Given the description of an element on the screen output the (x, y) to click on. 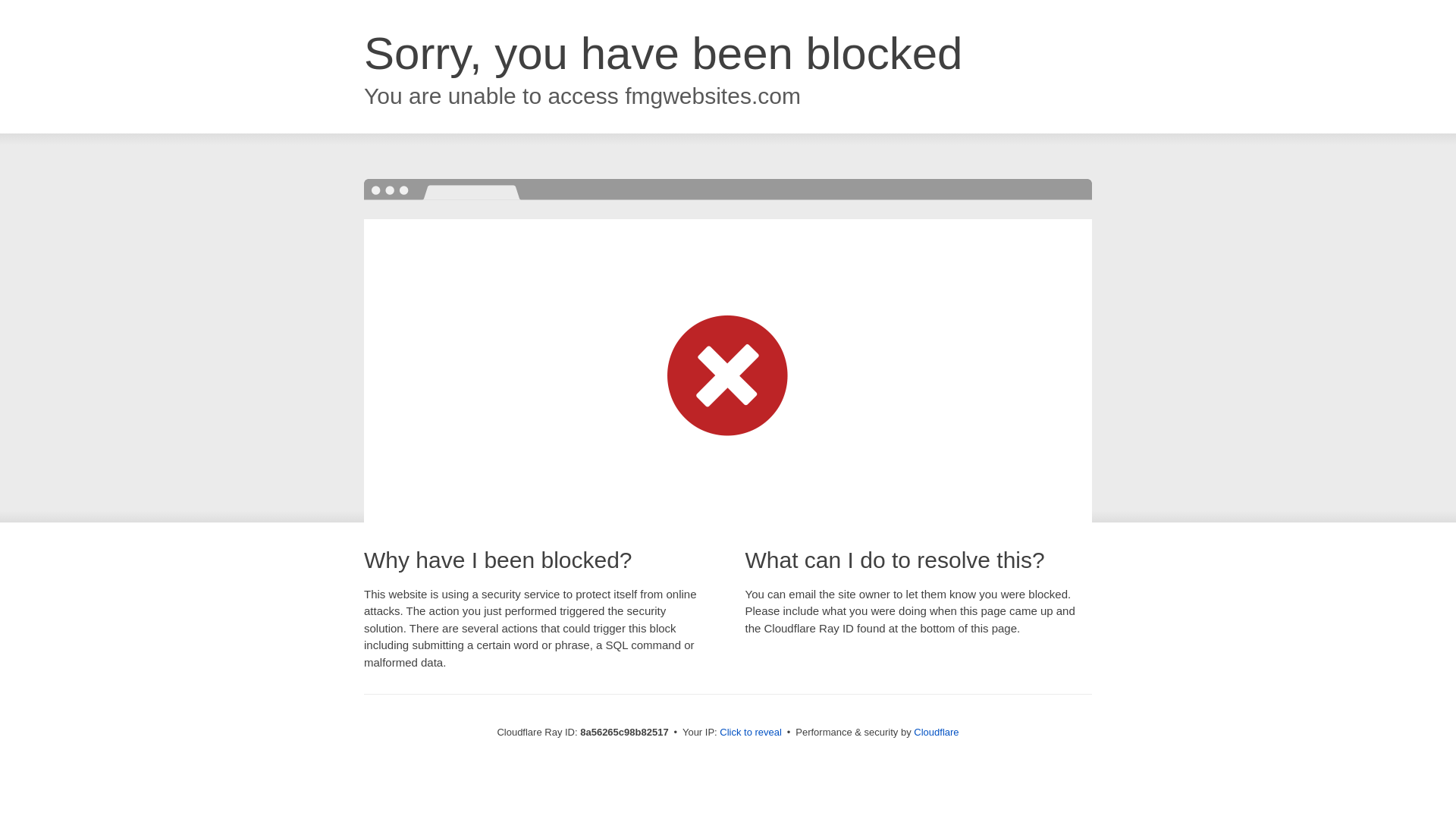
Click to reveal (750, 732)
Cloudflare (936, 731)
